Given the description of an element on the screen output the (x, y) to click on. 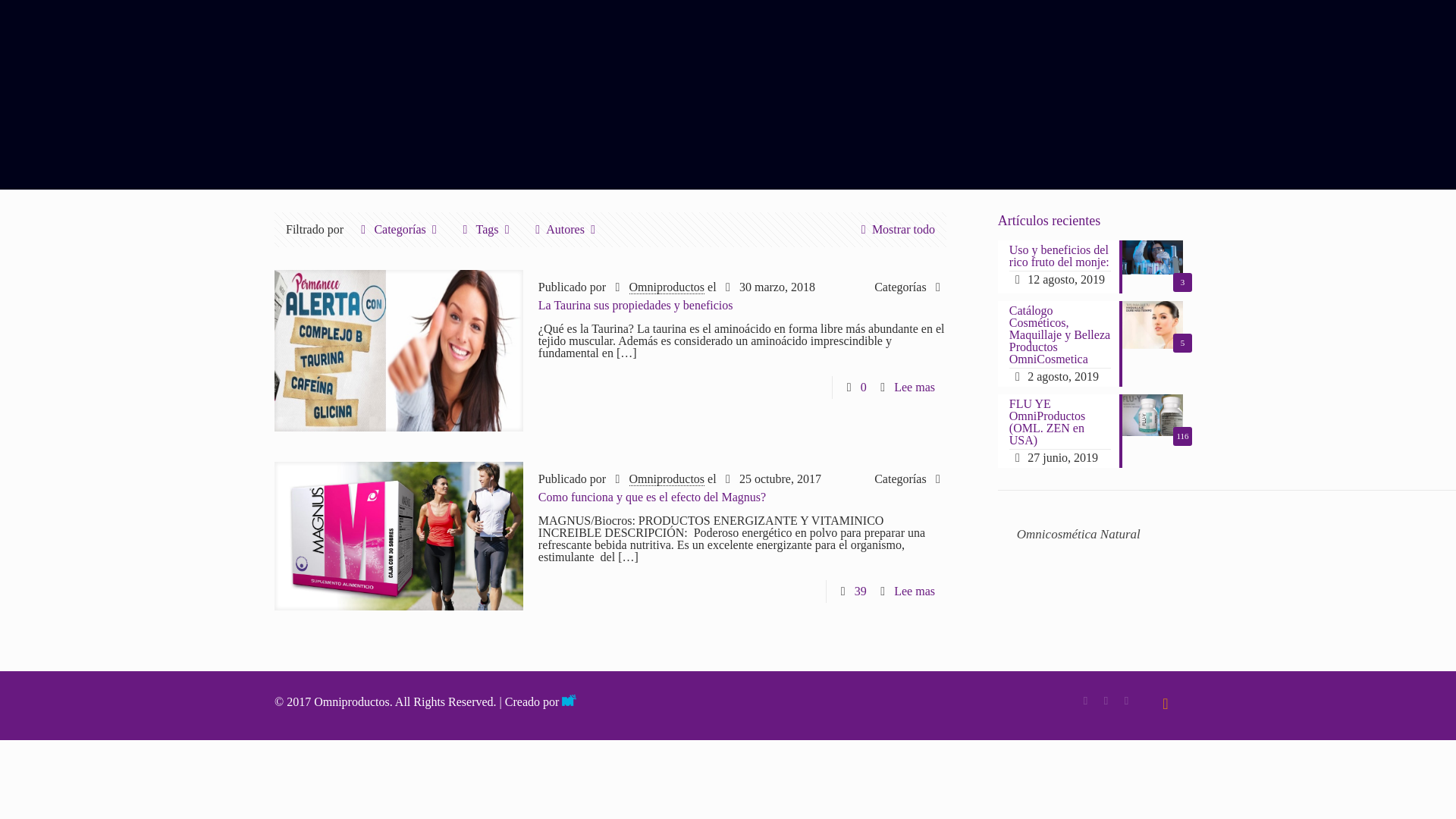
Twitter (1105, 700)
Autores (565, 228)
Tags (487, 228)
LinkedIn (1126, 700)
Mostrar todo (895, 228)
Facebook (1085, 700)
